Given the description of an element on the screen output the (x, y) to click on. 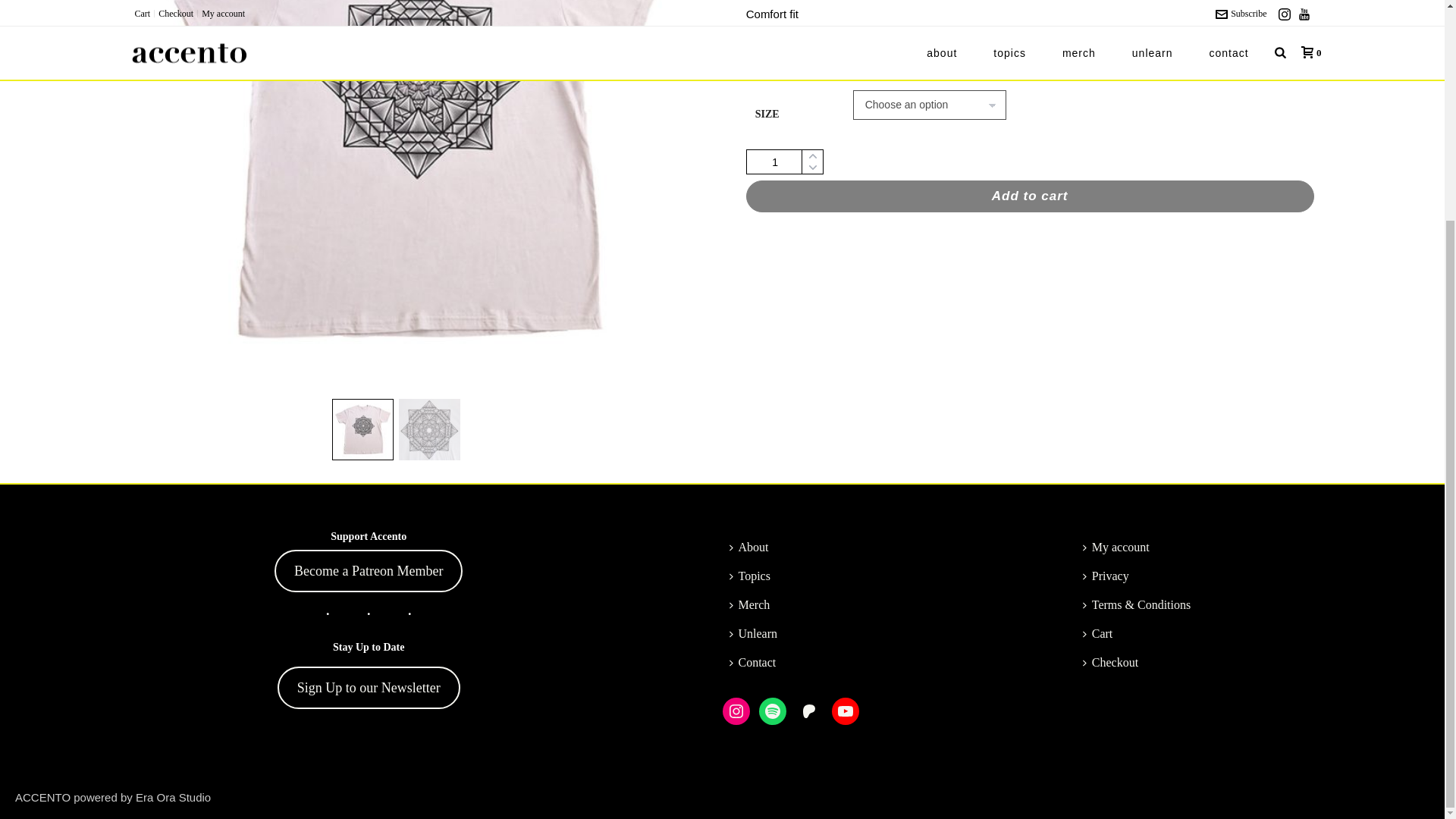
1 (784, 161)
Become a Patreon Member (369, 278)
Qty (784, 161)
Next (673, 117)
Add to cart (1029, 196)
Sign Up to our Newsletter (369, 394)
PayPal (1029, 248)
